Given the description of an element on the screen output the (x, y) to click on. 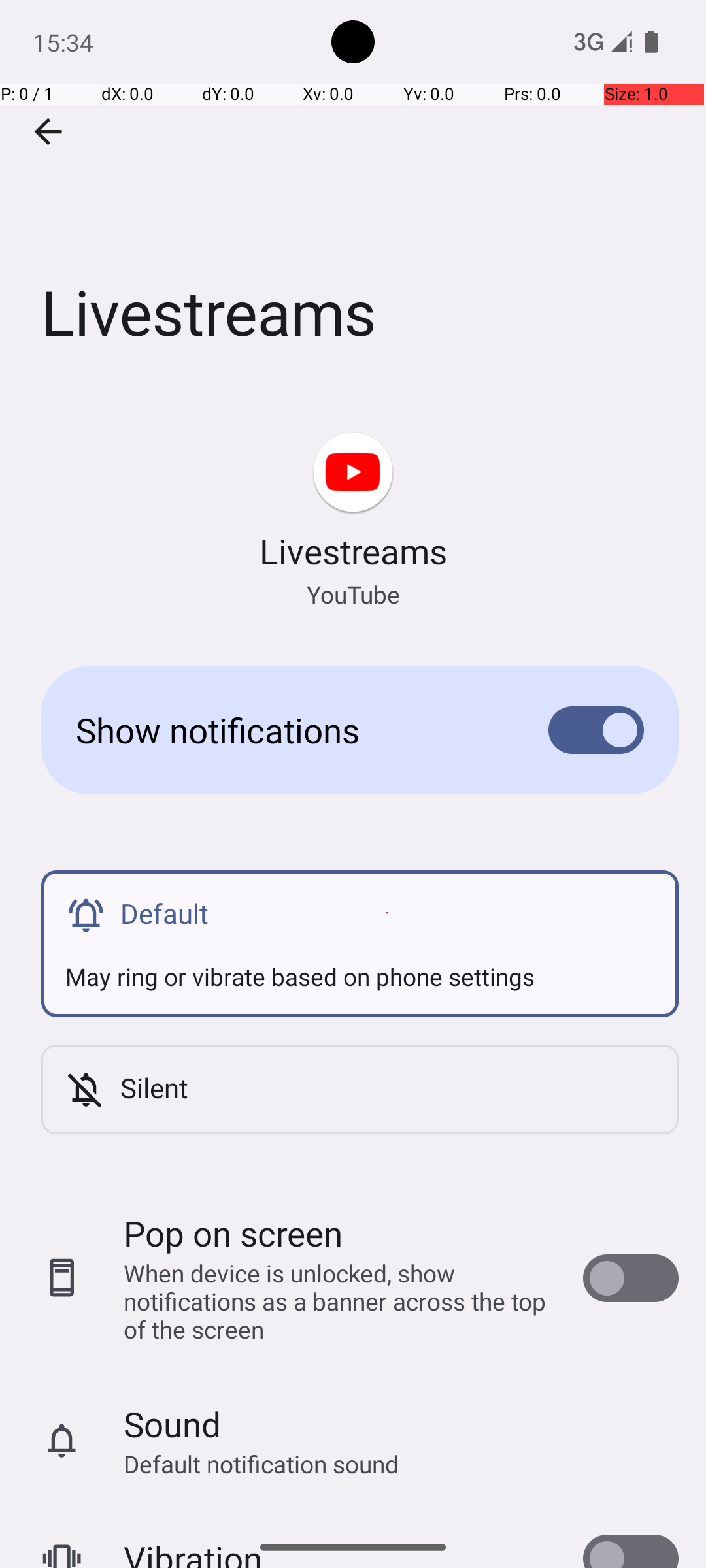
Livestreams Element type: android.widget.FrameLayout (353, 195)
Show notifications Element type: android.widget.TextView (291, 729)
Pop on screen Element type: android.widget.TextView (233, 1232)
When device is unlocked, show notifications as a banner across the top of the screen Element type: android.widget.TextView (339, 1300)
Default notification sound Element type: android.widget.TextView (260, 1463)
May ring or vibrate based on phone settings Element type: android.widget.TextView (359, 964)
